Given the description of an element on the screen output the (x, y) to click on. 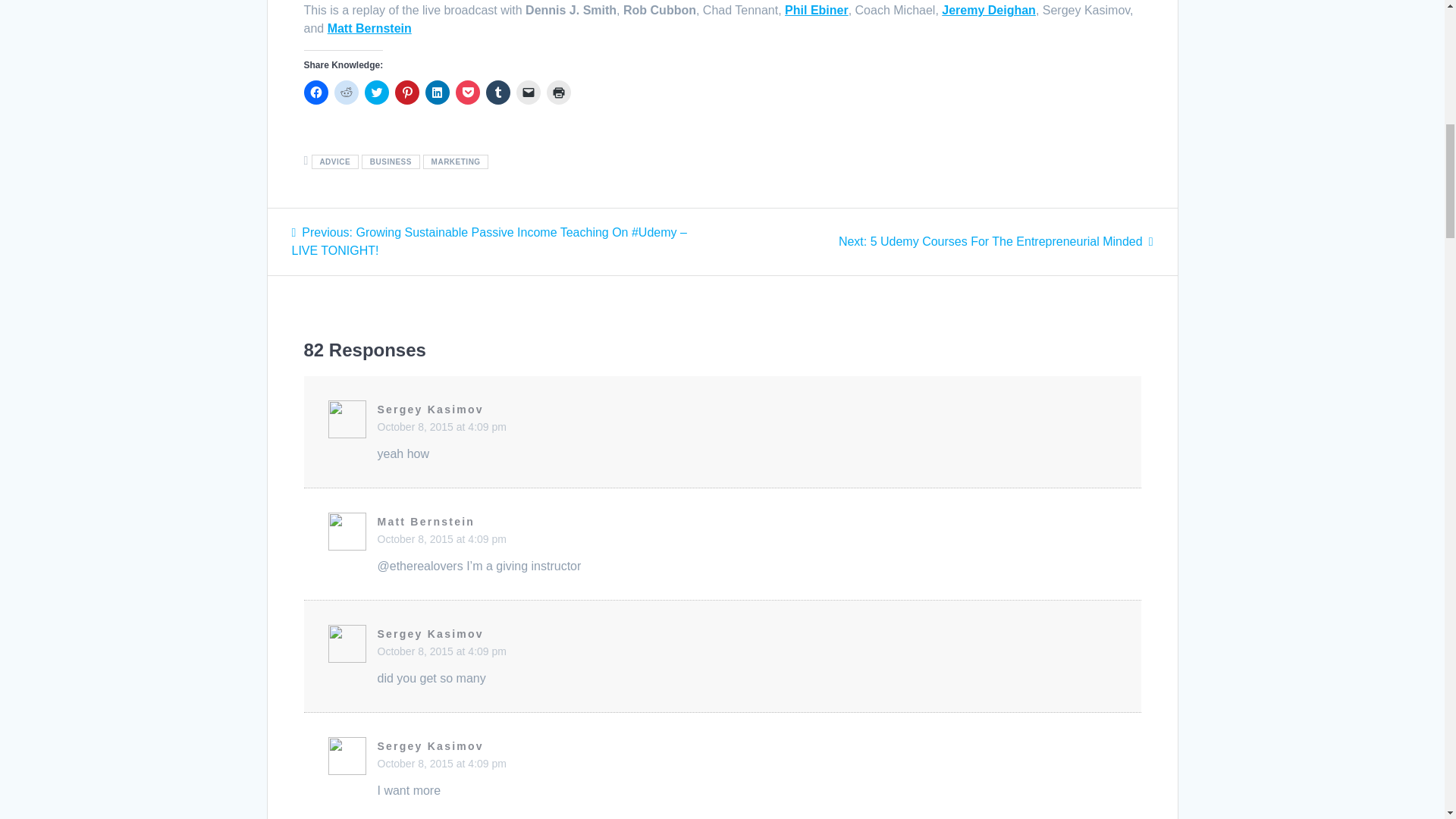
BUSINESS (390, 161)
Jeremy Deighan (988, 10)
October 8, 2015 at 4:09 pm (995, 241)
Click to share on Tumblr (441, 763)
Sergey Kasimov (496, 92)
Sergey Kasimov (430, 746)
Click to email a link to a friend (430, 409)
Phil Ebiner (527, 92)
Click to share on Twitter (816, 10)
October 8, 2015 at 4:09 pm (376, 92)
Udemy Instructor Phil Ebiner (441, 651)
Sergey Kasimov (816, 10)
Udemy Instructor Jeremy Deighan (430, 633)
Matt Bernstein (988, 10)
